Given the description of an element on the screen output the (x, y) to click on. 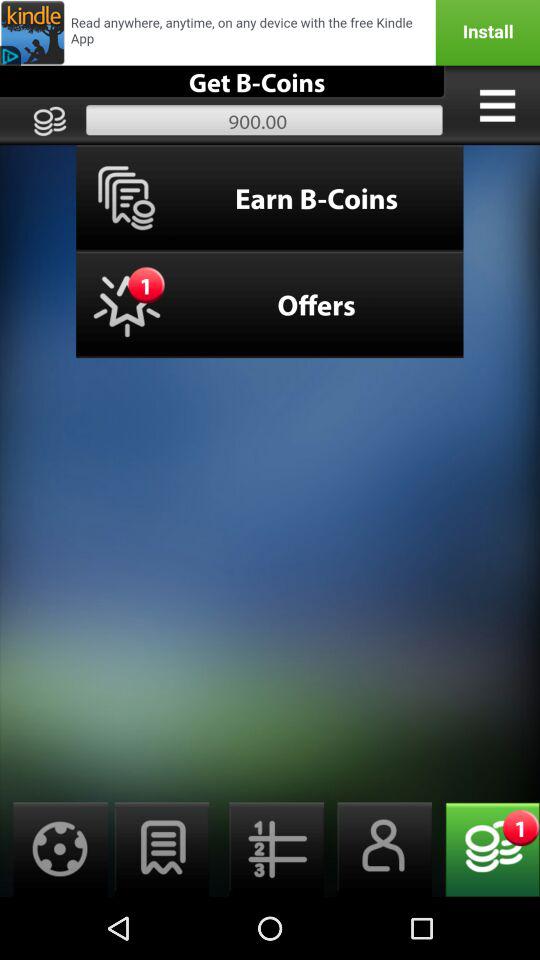
open contacts (378, 849)
